Given the description of an element on the screen output the (x, y) to click on. 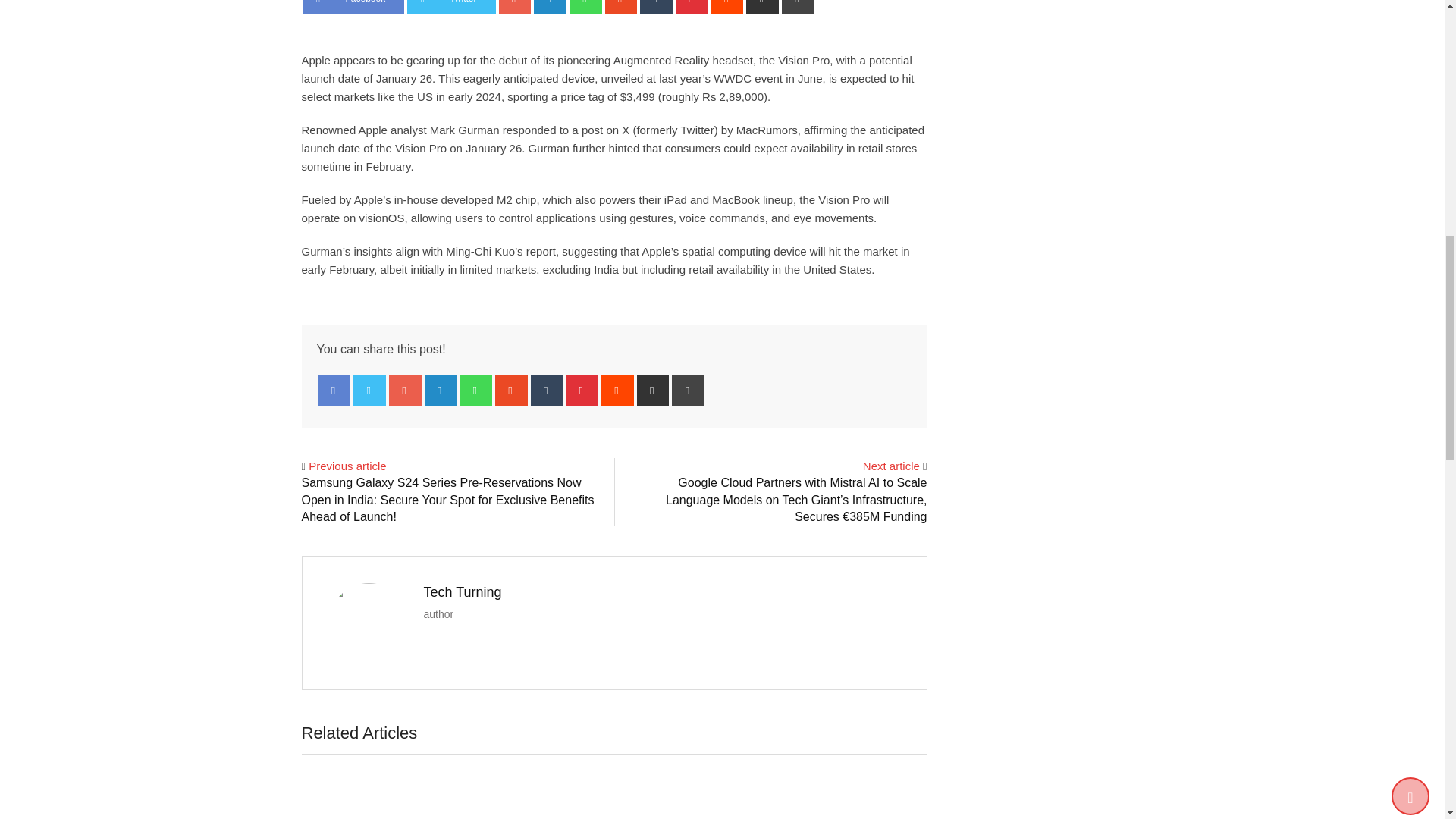
Facebook (353, 6)
StumbleUpon (621, 6)
Whatsapp (585, 6)
Twitter (451, 6)
LinkedIn (550, 6)
Posts by Tech Turning (461, 591)
